Given the description of an element on the screen output the (x, y) to click on. 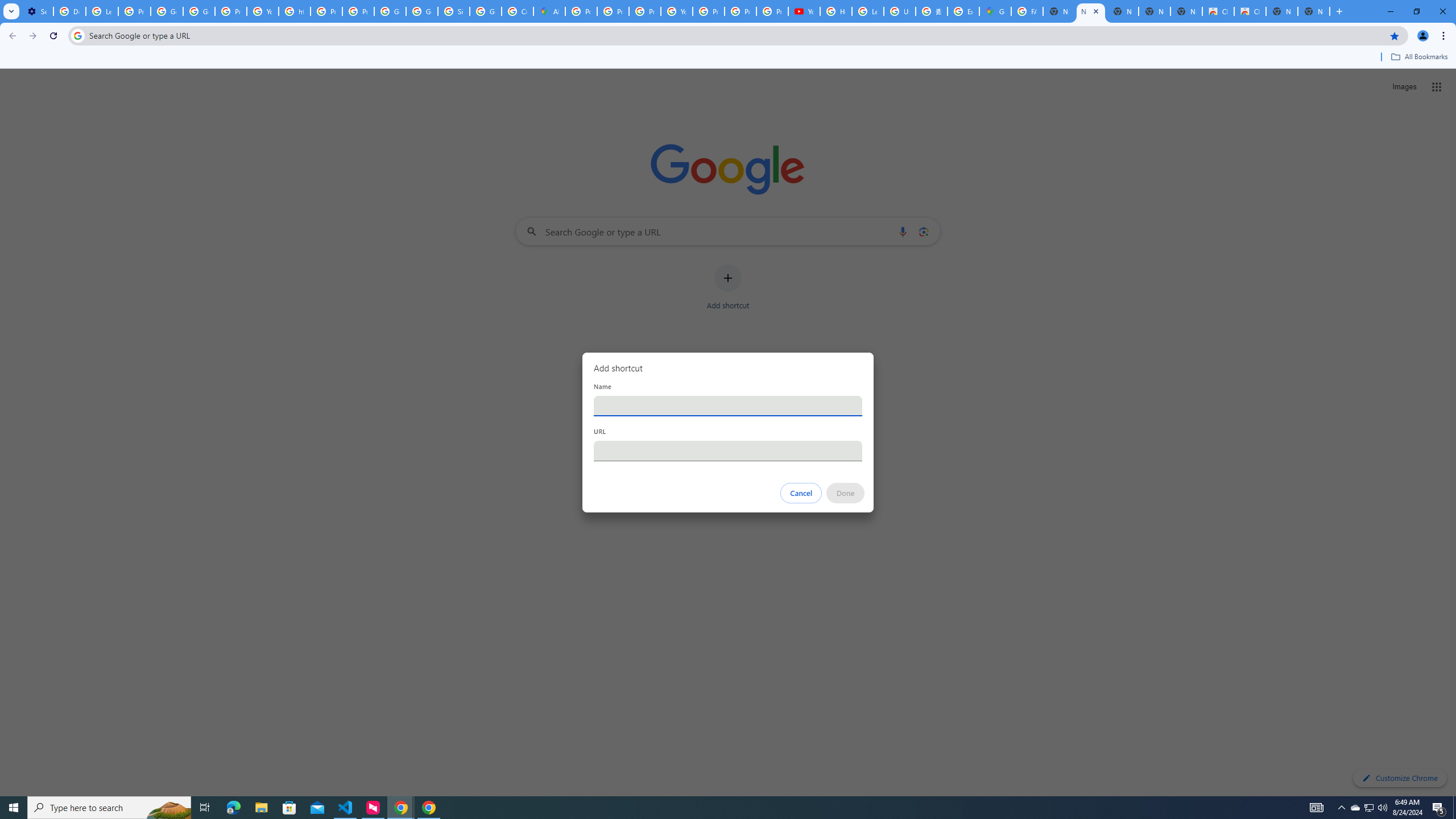
Sign in - Google Accounts (453, 11)
Name (727, 405)
Delete photos & videos - Computer - Google Photos Help (69, 11)
Privacy Checkup (772, 11)
Privacy Help Center - Policies Help (326, 11)
YouTube (262, 11)
